Given the description of an element on the screen output the (x, y) to click on. 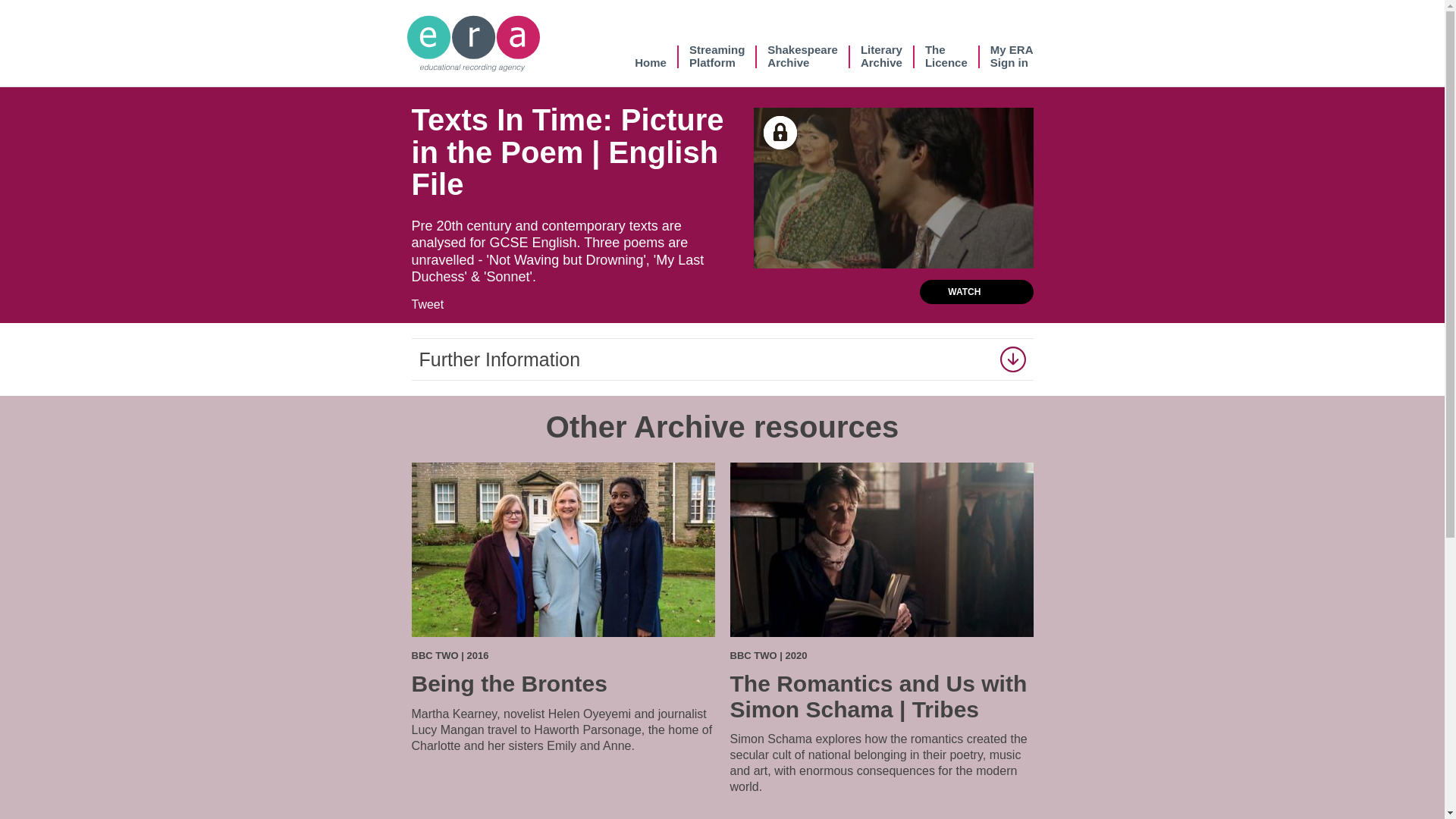
Home (881, 56)
Tweet (650, 56)
